Given the description of an element on the screen output the (x, y) to click on. 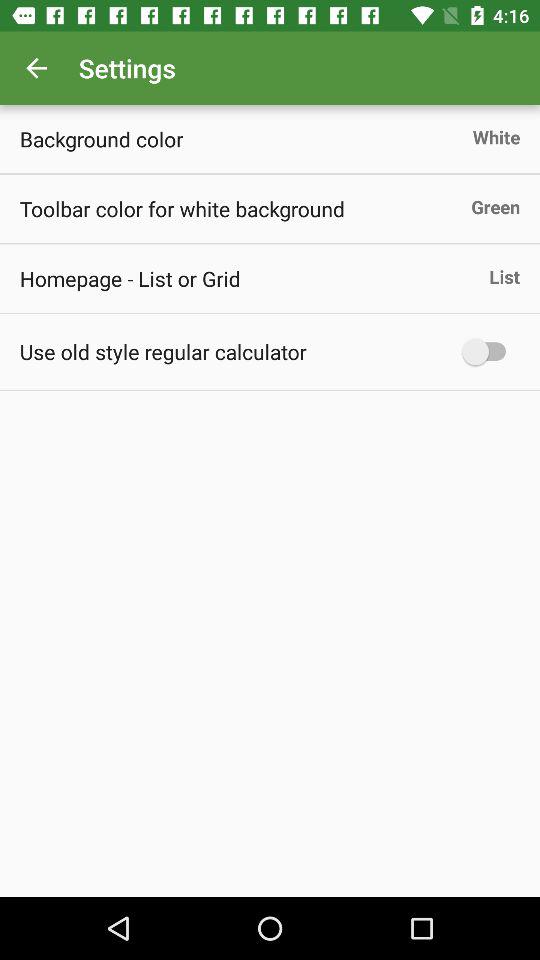
open the icon below the toolbar color for icon (129, 278)
